Given the description of an element on the screen output the (x, y) to click on. 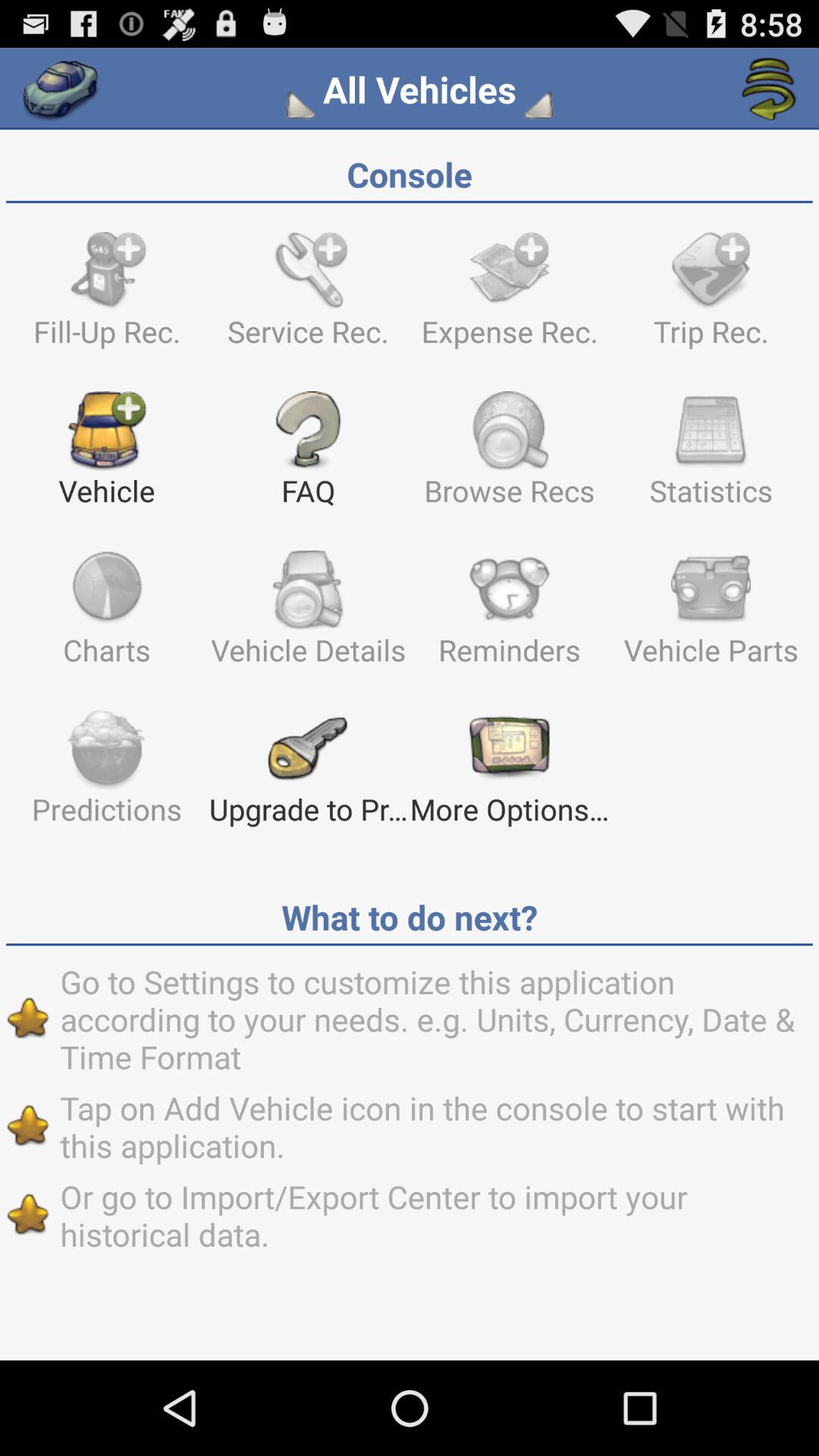
press the app to the left of the browse recs app (307, 455)
